Given the description of an element on the screen output the (x, y) to click on. 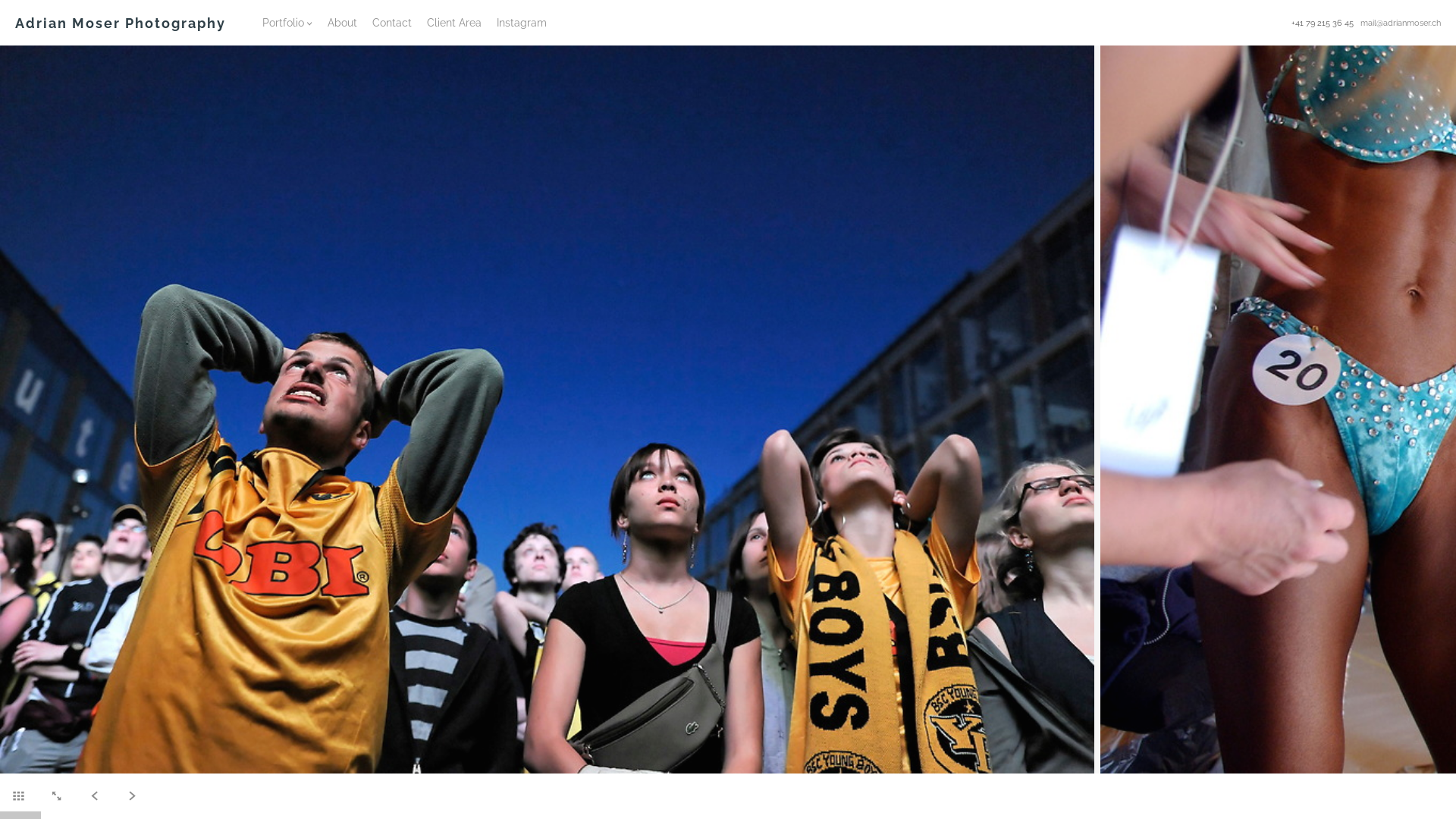
Next Element type: hover (131, 792)
About Element type: text (342, 22)
Fullscreen View Element type: hover (55, 792)
Contact Element type: text (391, 22)
Previous Element type: hover (22, 409)
Small Image View Element type: hover (18, 792)
Previous Element type: hover (93, 792)
Adrian Moser Photography Element type: text (120, 22)
Instagram Element type: text (521, 22)
Client Area Element type: text (453, 22)
mail@adrianmoser.ch Element type: text (1400, 22)
